Given the description of an element on the screen output the (x, y) to click on. 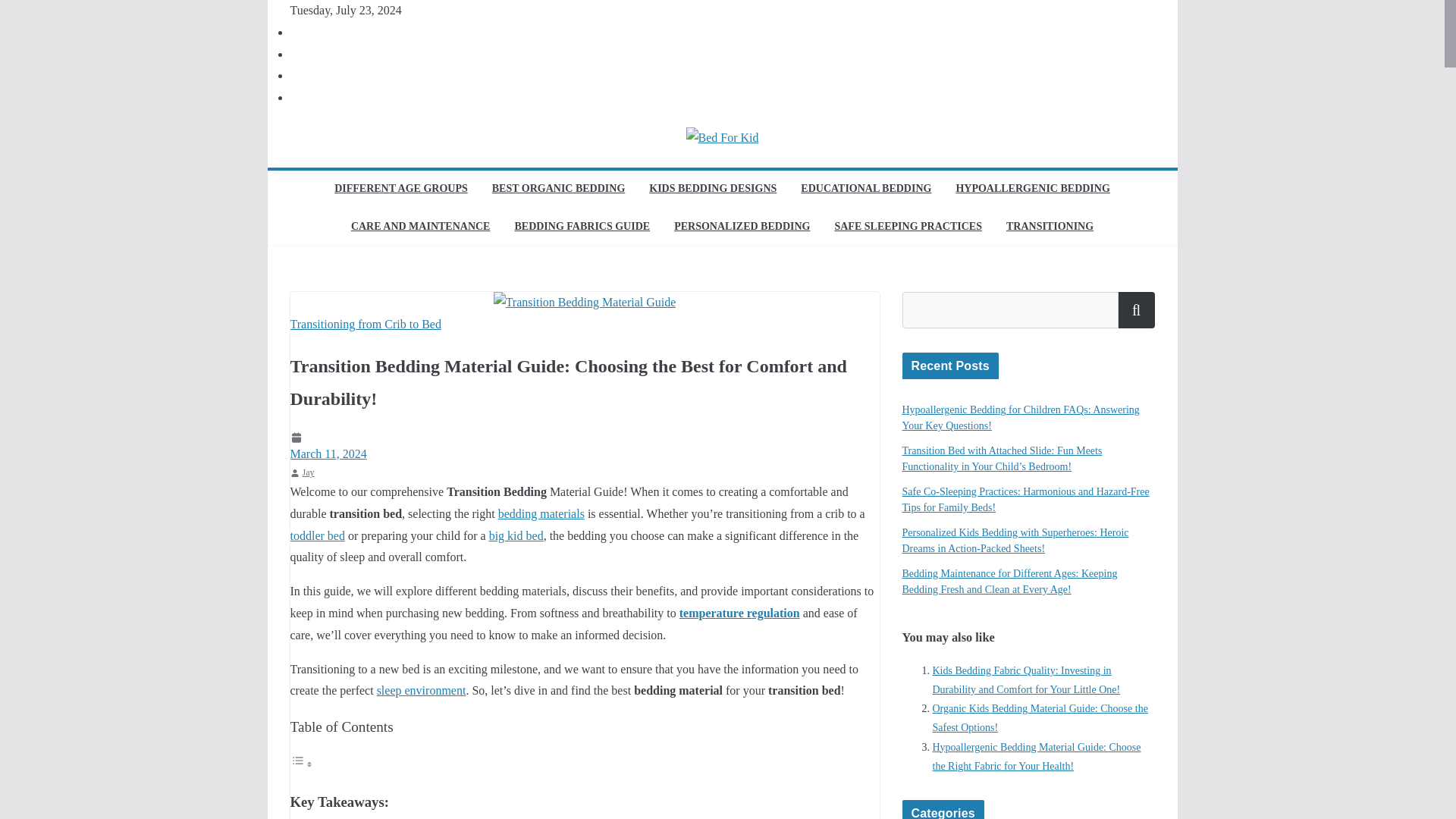
big kid bed (516, 535)
Transitioning from Crib to Bed (365, 323)
PERSONALIZED BEDDING (741, 227)
6:58 am (584, 445)
BEDDING FABRICS GUIDE (581, 227)
BEST ORGANIC BEDDING (559, 189)
HYPOALLERGENIC BEDDING (1032, 189)
DIFFERENT AGE GROUPS (400, 189)
toddler bed (316, 535)
bedding materials (541, 513)
EDUCATIONAL BEDDING (865, 189)
temperature regulation (739, 612)
CARE AND MAINTENANCE (420, 227)
March 11, 2024 (584, 445)
